Given the description of an element on the screen output the (x, y) to click on. 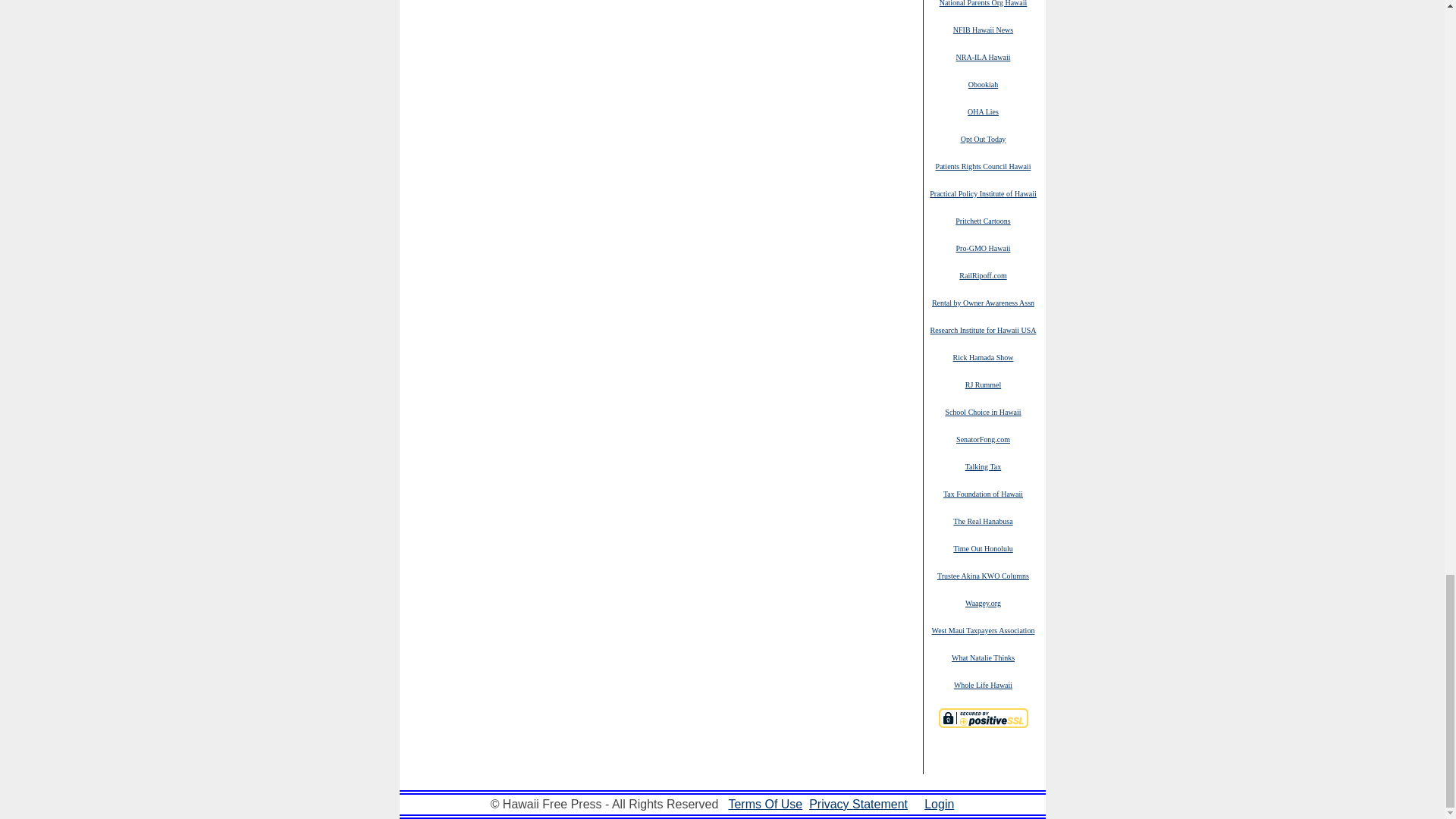
Login (938, 803)
